Given the description of an element on the screen output the (x, y) to click on. 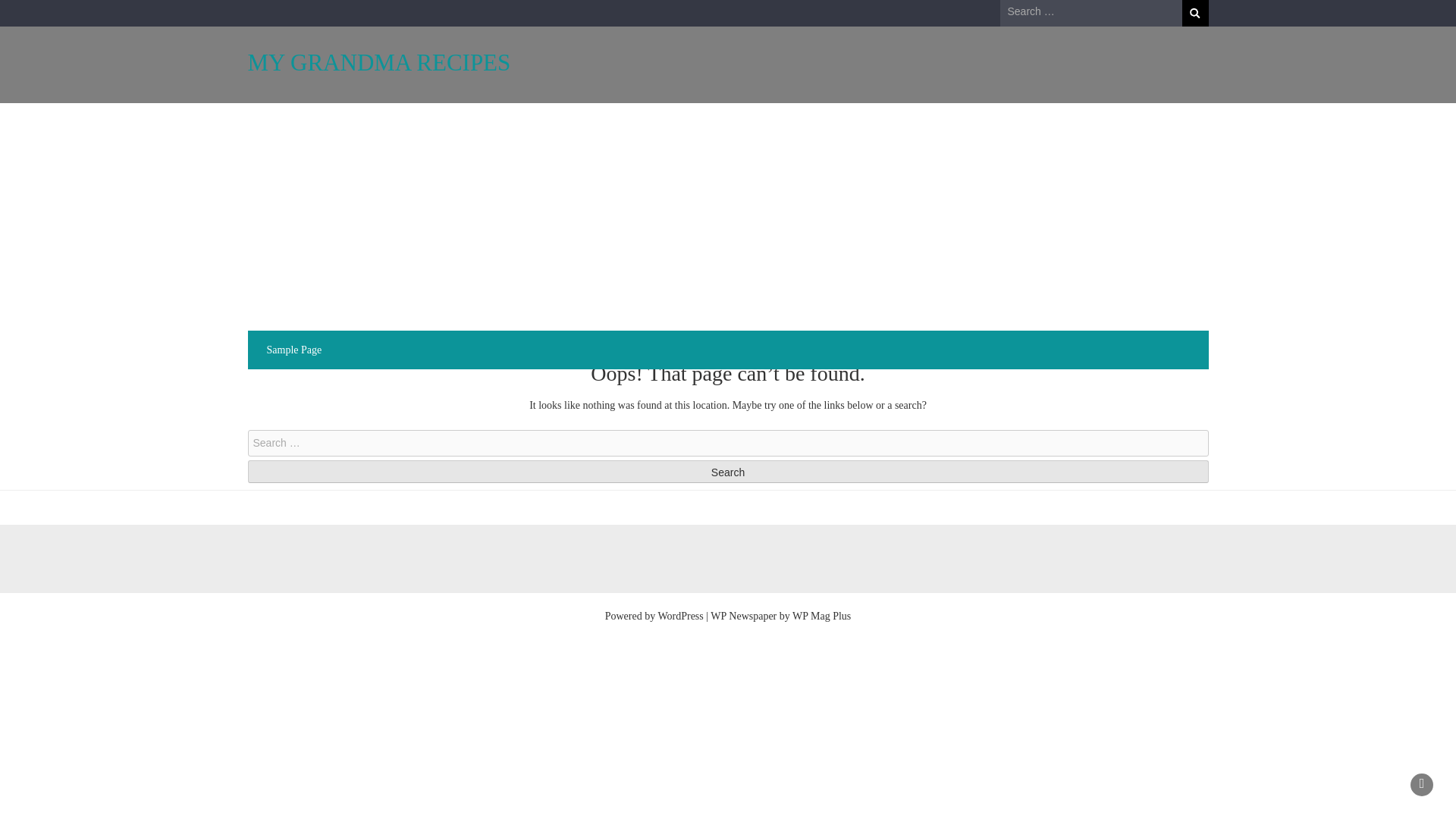
Search (727, 471)
Sample Page (294, 349)
WordPress (680, 615)
Search for: (727, 442)
Search (727, 471)
Search (1194, 13)
Search for: (1089, 11)
Search (727, 471)
MY GRANDMA RECIPES (379, 62)
WP Newspaper by WP Mag Plus (780, 615)
Search (1194, 13)
Search (1194, 13)
